Given the description of an element on the screen output the (x, y) to click on. 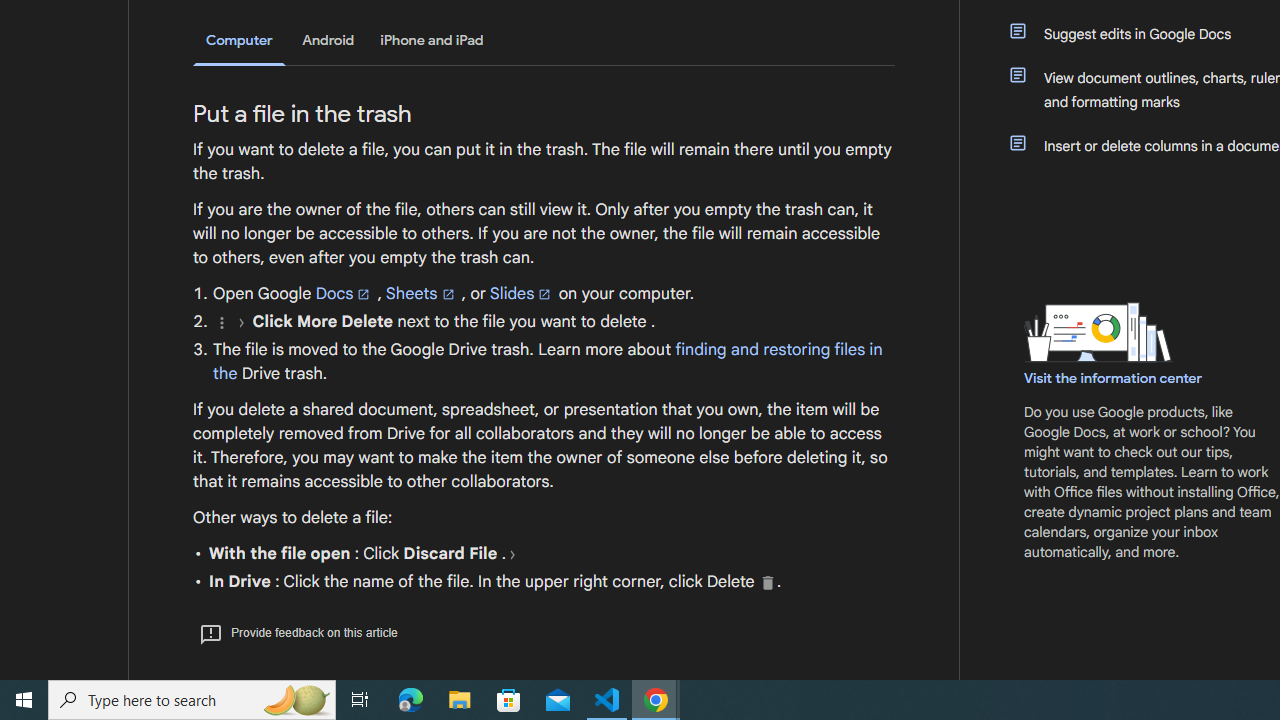
iPhone and iPad (431, 40)
Docs (343, 293)
Android (328, 40)
Slides (521, 293)
Visit the information center (1113, 378)
Computer (239, 41)
More (221, 322)
finding and restoring files in the (547, 361)
Sheets (421, 293)
and then (511, 554)
Provide feedback on this article (298, 632)
To delete (768, 582)
